Given the description of an element on the screen output the (x, y) to click on. 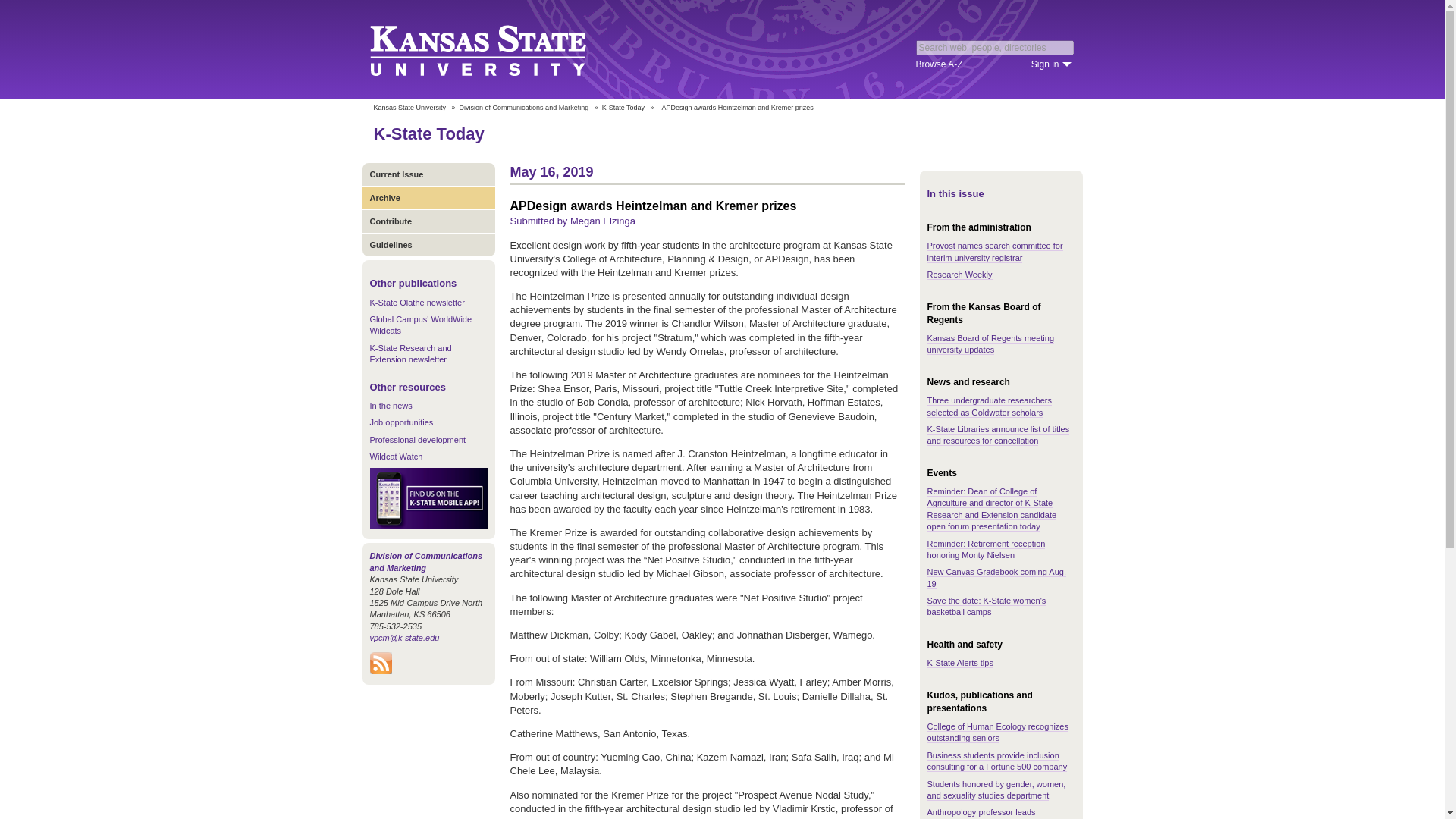
K-State Today (427, 133)
K-State Research and Extension newsletter (410, 353)
Sign in (1050, 64)
Global Campus' WorldWide Wildcats (420, 324)
Wildcat Watch (396, 456)
Contribute (428, 220)
Archive (428, 197)
Division of Communications and Marketing (426, 561)
Guidelines (428, 244)
